Given the description of an element on the screen output the (x, y) to click on. 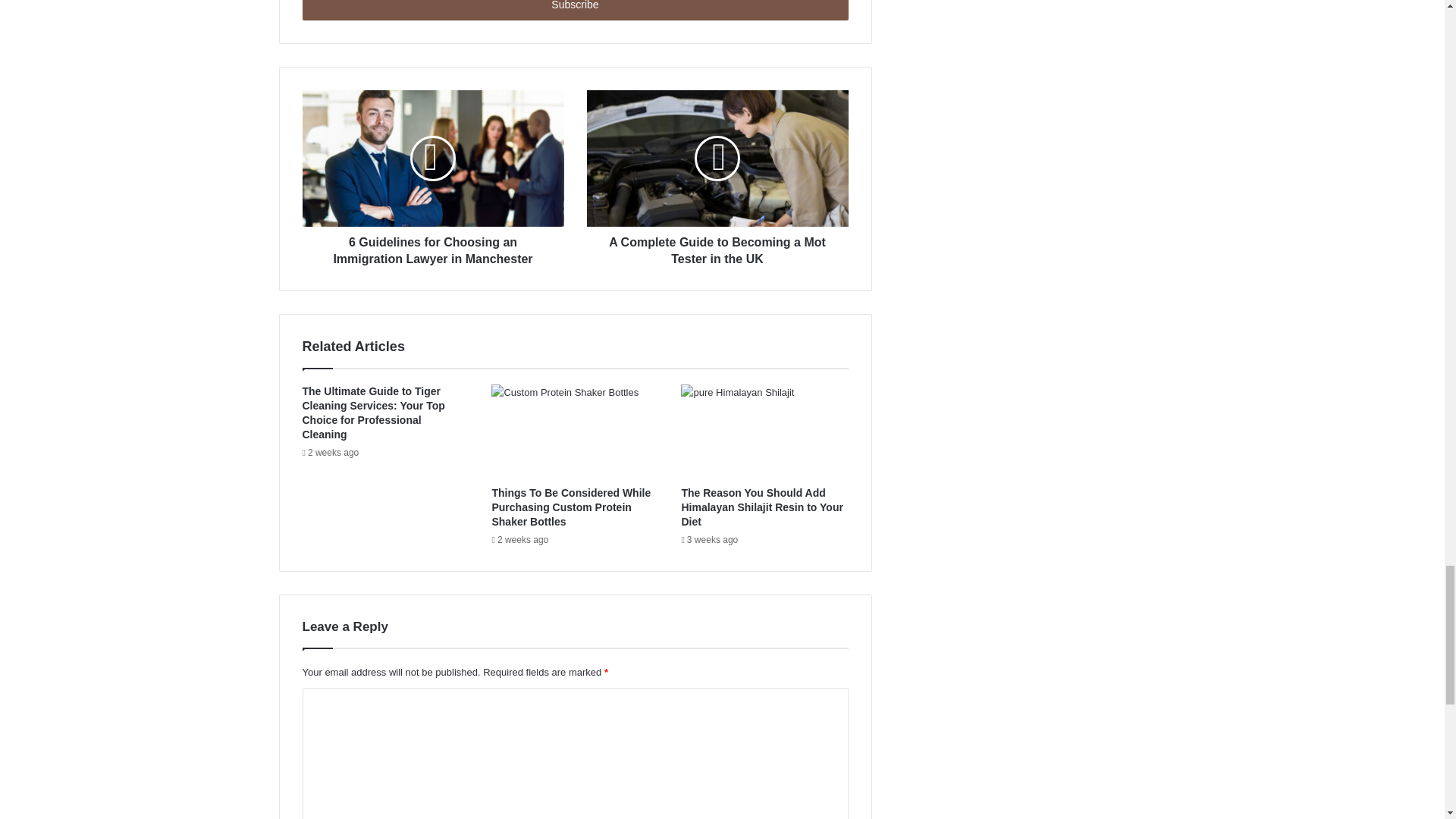
Subscribe (574, 10)
